Given the description of an element on the screen output the (x, y) to click on. 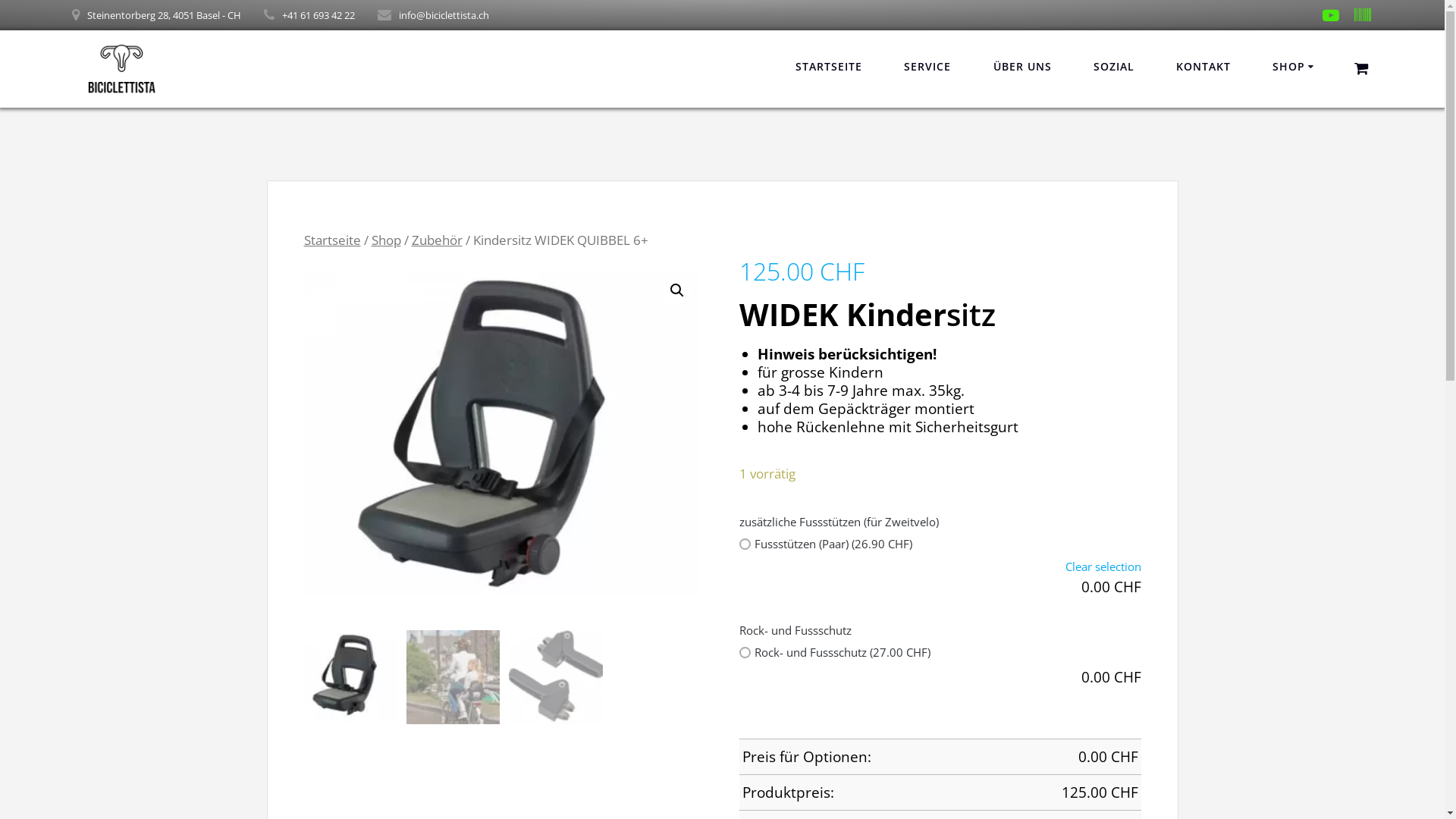
SHOP Element type: text (1295, 66)
WIDEK JUNIOR-KINDERSITZ QUIBBEL Element type: hover (504, 442)
STARTSEITE Element type: text (828, 66)
SOZIAL Element type: text (1113, 66)
KONTAKT Element type: text (1203, 66)
Startseite Element type: text (331, 239)
Shop Element type: text (386, 239)
SERVICE Element type: text (927, 66)
Clear selection Element type: text (940, 566)
